Given the description of an element on the screen output the (x, y) to click on. 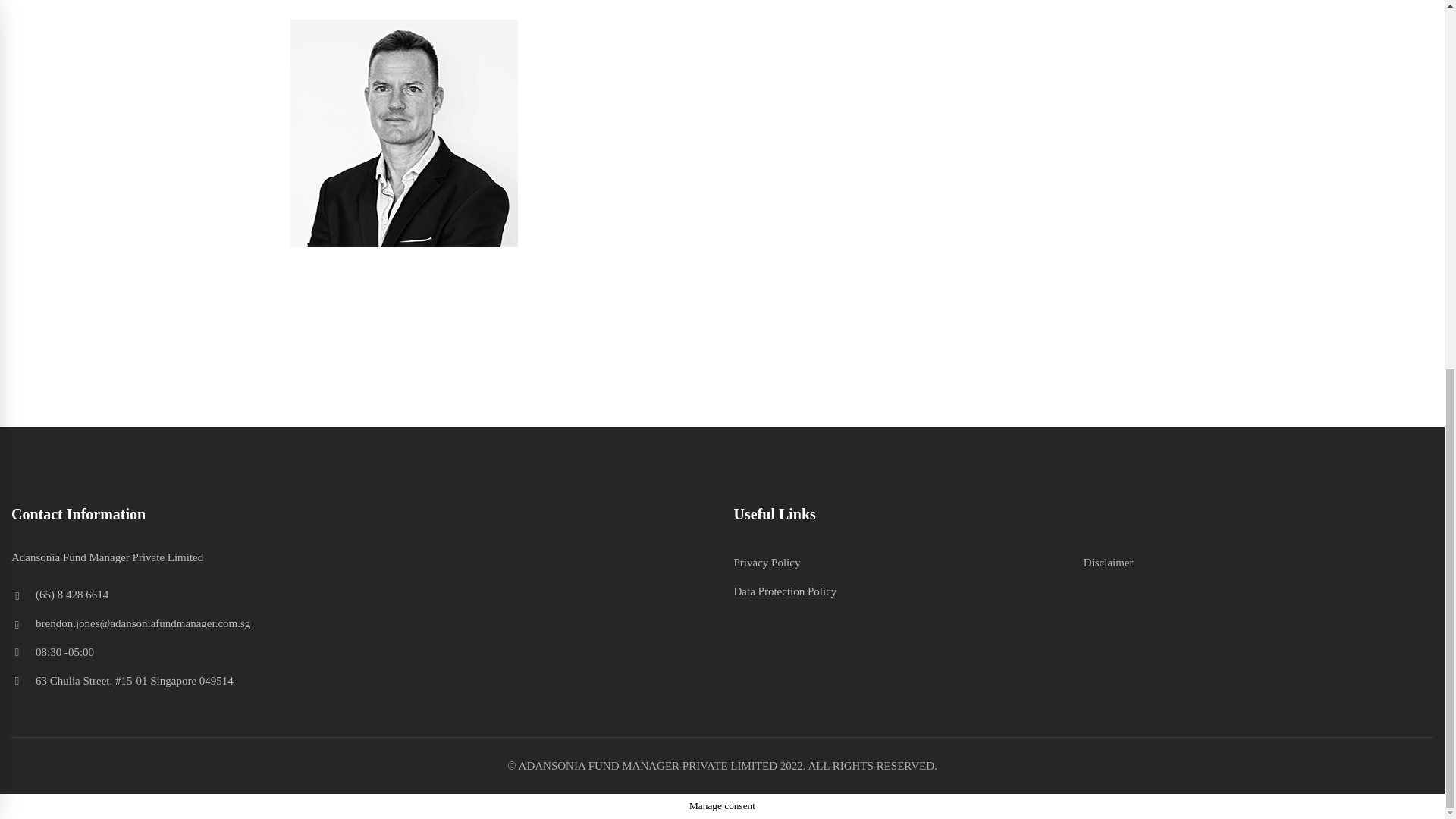
Disclaimer (1108, 562)
Privacy Policy (766, 562)
Data Protection Policy (785, 591)
